Given the description of an element on the screen output the (x, y) to click on. 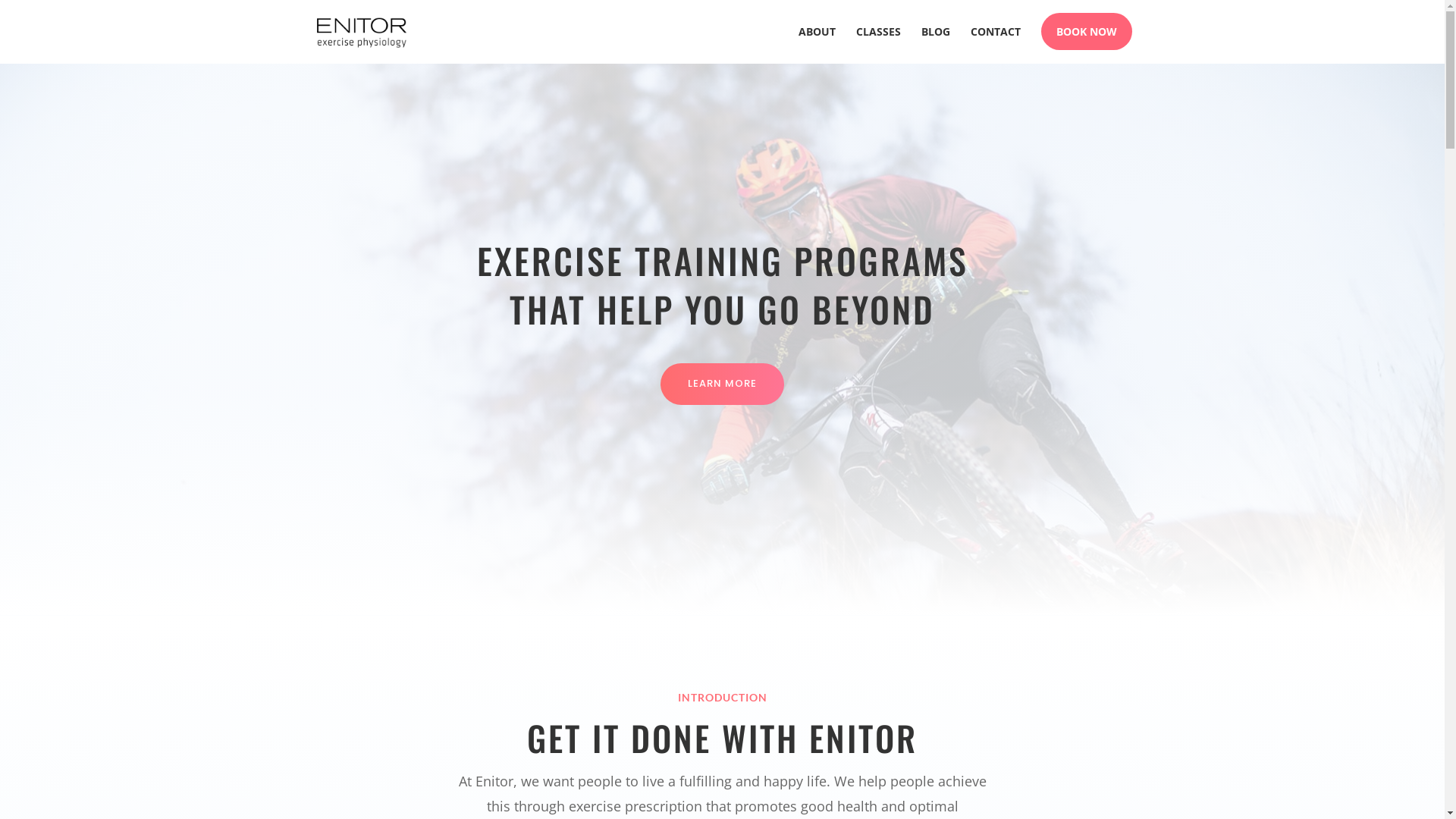
LEARN MORE Element type: text (722, 383)
CONTACT Element type: text (995, 44)
BOOK NOW Element type: text (1085, 44)
CLASSES Element type: text (877, 44)
ABOUT Element type: text (815, 44)
BLOG Element type: text (934, 44)
